Given the description of an element on the screen output the (x, y) to click on. 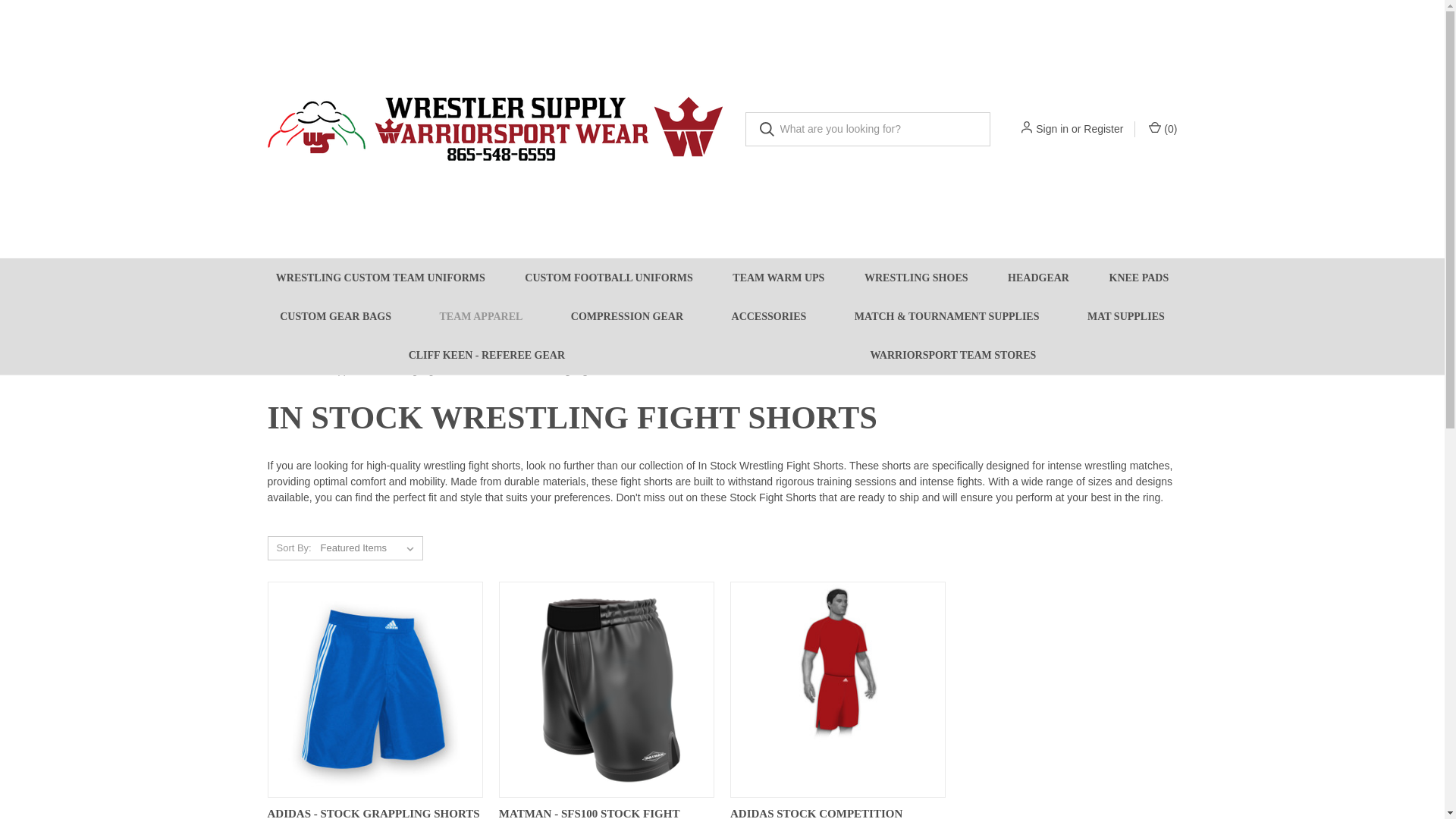
Matman stock fight short for competition (606, 688)
WRESTLING SHOES (916, 277)
Royal - White Adidas Stock Grappling Shorts aA201s (374, 689)
Register (1102, 129)
TEAM WARM UPS (778, 277)
KNEE PADS (1138, 277)
adidas Stock Competition Shorts (837, 689)
WRESTLING CUSTOM TEAM UNIFORMS (380, 277)
HEADGEAR (1038, 277)
CUSTOM FOOTBALL UNIFORMS (609, 277)
WarriorSport Wrestler Supply (494, 128)
Sign in (1051, 129)
